Given the description of an element on the screen output the (x, y) to click on. 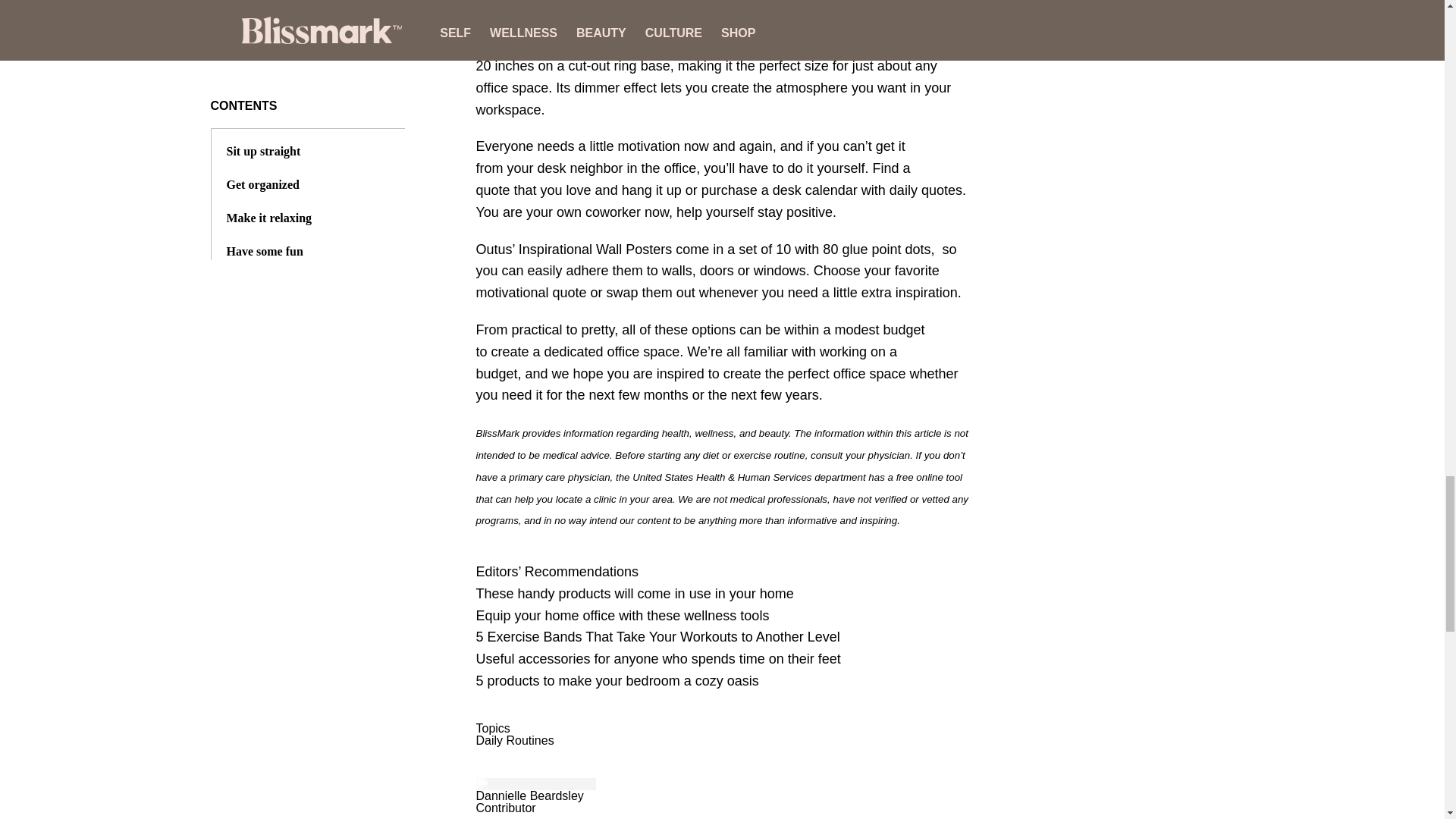
Dannielle Beardsley (529, 795)
These handy products will come in use in your home (634, 593)
Useful accessories for anyone who spends time on their feet (658, 658)
Daily Routines (515, 739)
5 products to make your bedroom a cozy oasis (617, 680)
Equip your home office with these wellness tools (623, 615)
5 Exercise Bands That Take Your Workouts to Another Level (658, 636)
